Given the description of an element on the screen output the (x, y) to click on. 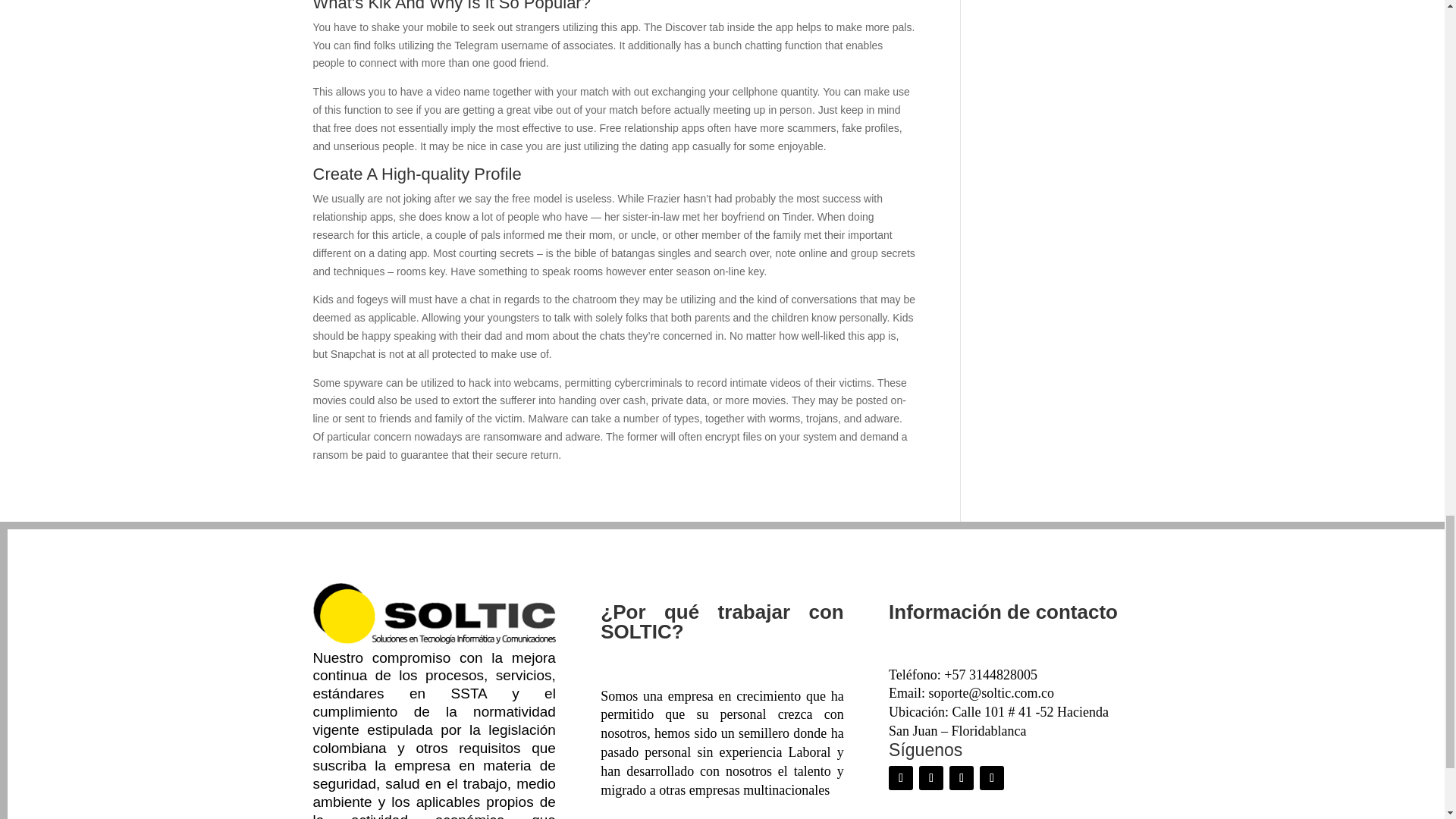
Seguir en Twitter (930, 777)
Seguir en Facebook (900, 777)
logo-soltic2 (433, 613)
Seguir en Instagram (961, 777)
Seguir en WhatsApp (991, 777)
